Given the description of an element on the screen output the (x, y) to click on. 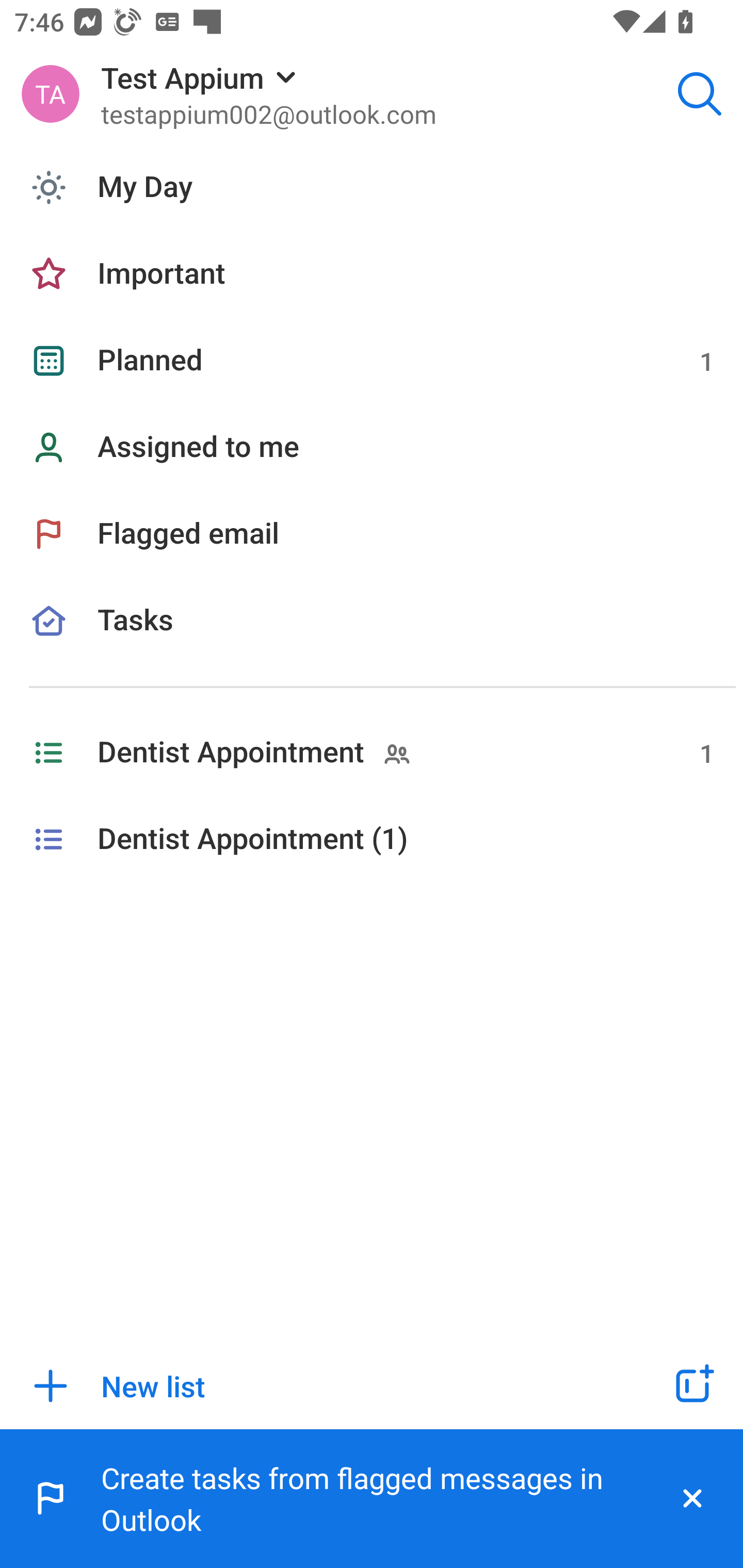
Enter search (699, 93)
My Day, 0 tasks My Day (371, 187)
Important, 0 tasks Important (371, 274)
Planned, 1 tasks Planned 1 (371, 361)
Assigned to me, 0 tasks Assigned to me (371, 447)
Flagged email (371, 533)
Tasks (371, 643)
Dentist Appointment (1) (371, 839)
New list (312, 1386)
Create group (692, 1386)
Close (692, 1498)
